Given the description of an element on the screen output the (x, y) to click on. 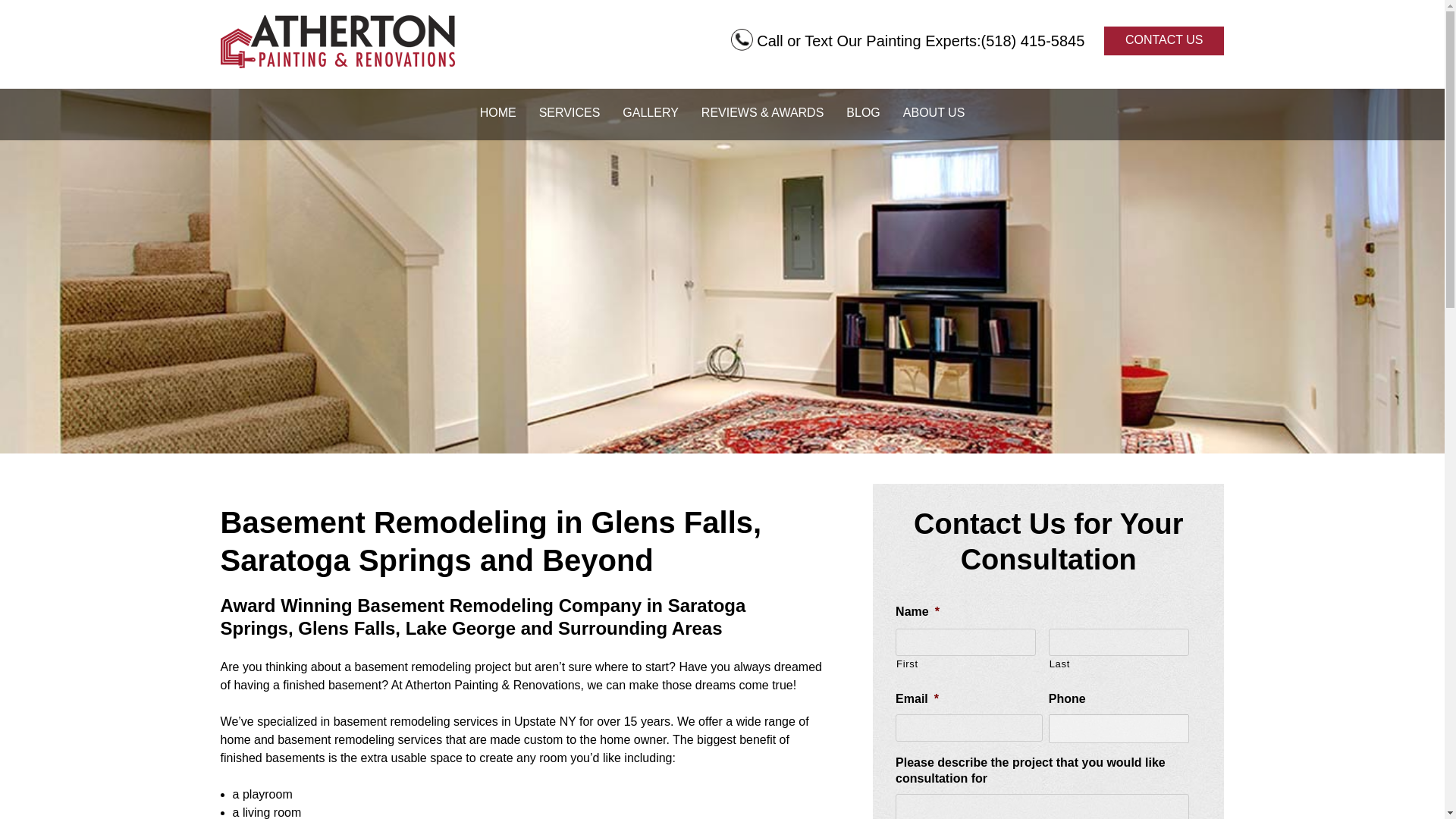
CONTACT US (1163, 40)
GALLERY (650, 114)
SERVICES (568, 114)
HOME (498, 114)
ABOUT US (933, 114)
BLOG (862, 114)
